Given the description of an element on the screen output the (x, y) to click on. 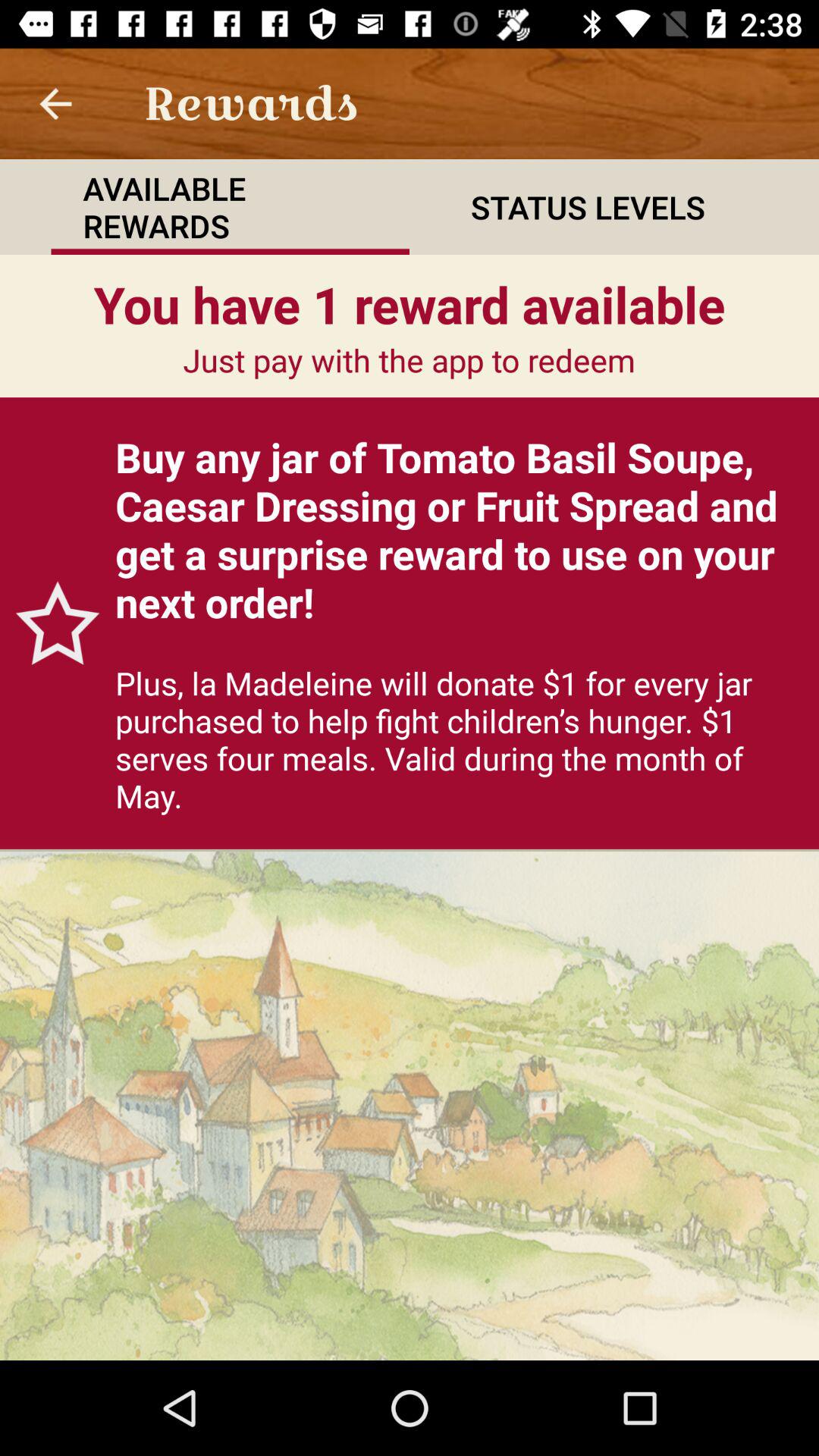
open icon below just pay with icon (459, 529)
